Given the description of an element on the screen output the (x, y) to click on. 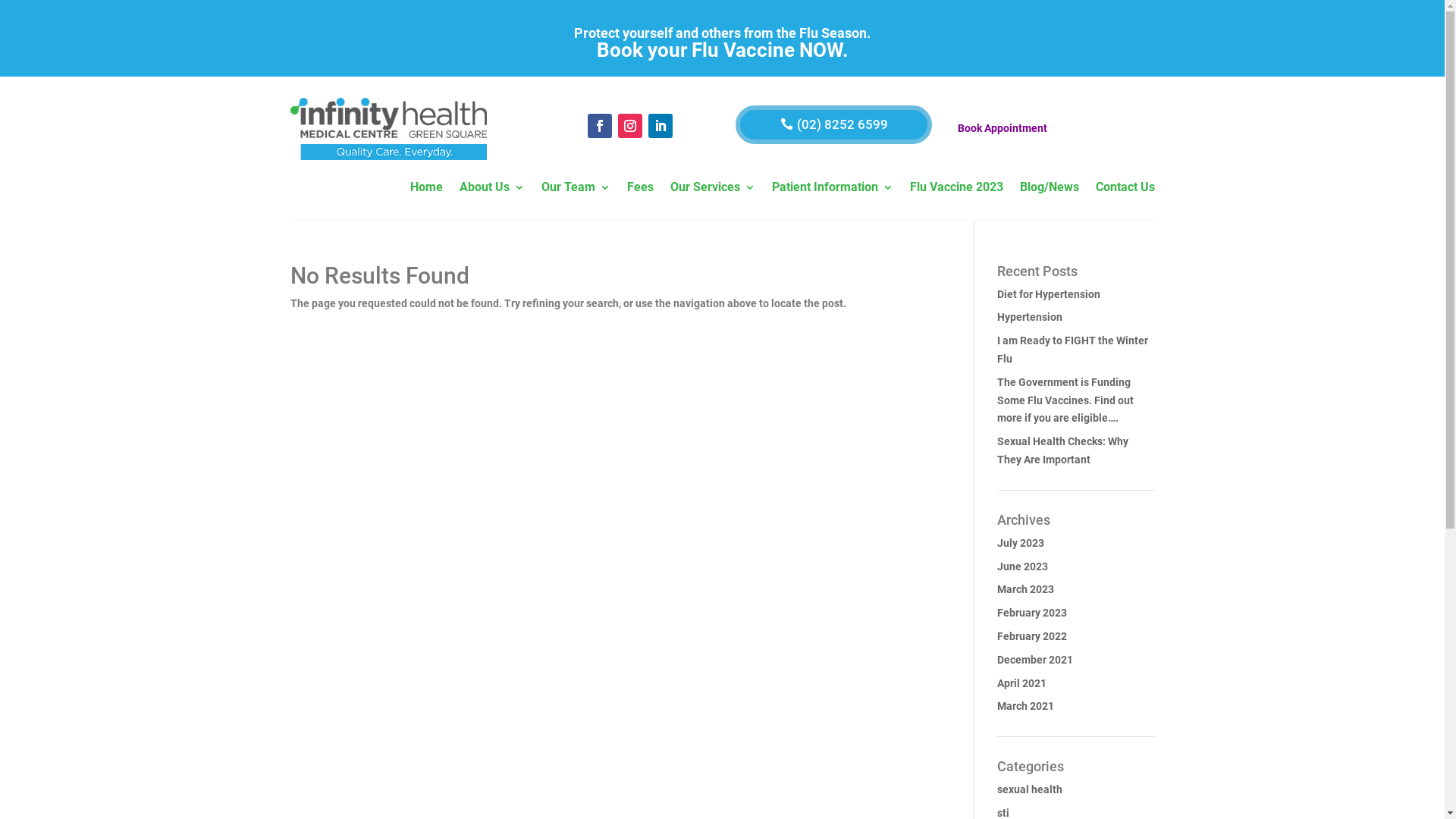
April 2021 Element type: text (1021, 683)
Patient Information Element type: text (832, 190)
sexual health Element type: text (1029, 789)
June 2023 Element type: text (1022, 566)
February 2023 Element type: text (1031, 612)
Our Services Element type: text (712, 190)
March 2023 Element type: text (1025, 589)
Follow on LinkedIn Element type: hover (660, 125)
Flu Vaccine 2023 Element type: text (956, 190)
Sexual Health Checks: Why They Are Important Element type: text (1062, 450)
February 2022 Element type: text (1031, 636)
March 2021 Element type: text (1025, 705)
Follow on Facebook Element type: hover (599, 125)
December 2021 Element type: text (1035, 659)
Blog/News Element type: text (1048, 190)
Hypertension Element type: text (1029, 316)
(02) 8252 6599 Element type: text (833, 124)
Contact Us Element type: text (1124, 190)
Follow on Instagram Element type: hover (630, 125)
I am Ready to FIGHT the Winter Flu Element type: text (1072, 349)
Home Element type: text (425, 190)
About Us Element type: text (491, 190)
logo (2) Element type: hover (387, 128)
Diet for Hypertension Element type: text (1048, 294)
July 2023 Element type: text (1020, 542)
Fees Element type: text (639, 190)
Book Appointment Element type: text (1002, 128)
Our Team Element type: text (575, 190)
